Given the description of an element on the screen output the (x, y) to click on. 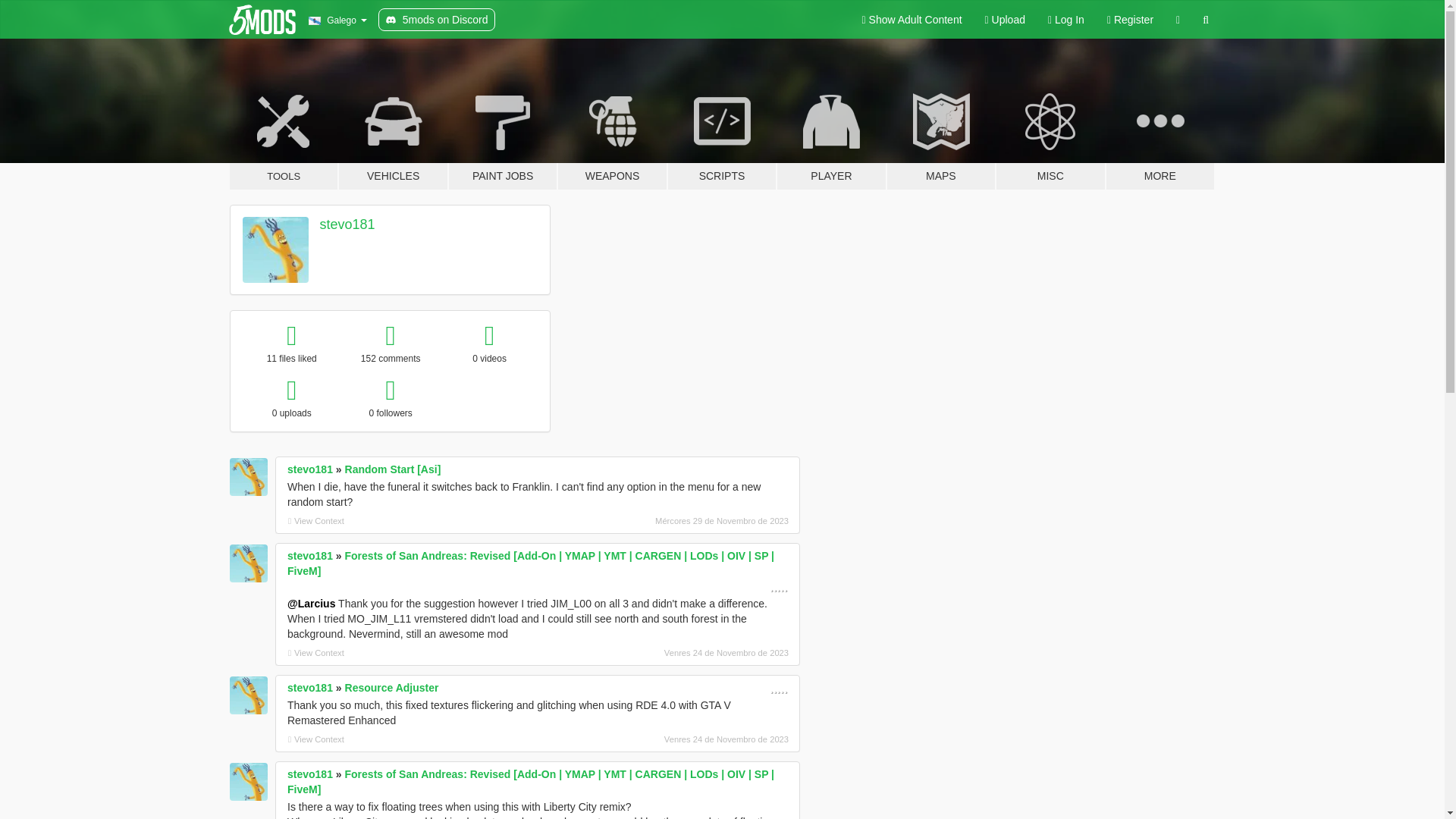
  Galego (336, 19)
Register (1130, 19)
Upload (1005, 19)
Awesome! (778, 687)
Awesome! (778, 585)
Log In (1066, 19)
5mods on Discord (436, 19)
Light mode (912, 19)
Show Adult Content (912, 19)
